Given the description of an element on the screen output the (x, y) to click on. 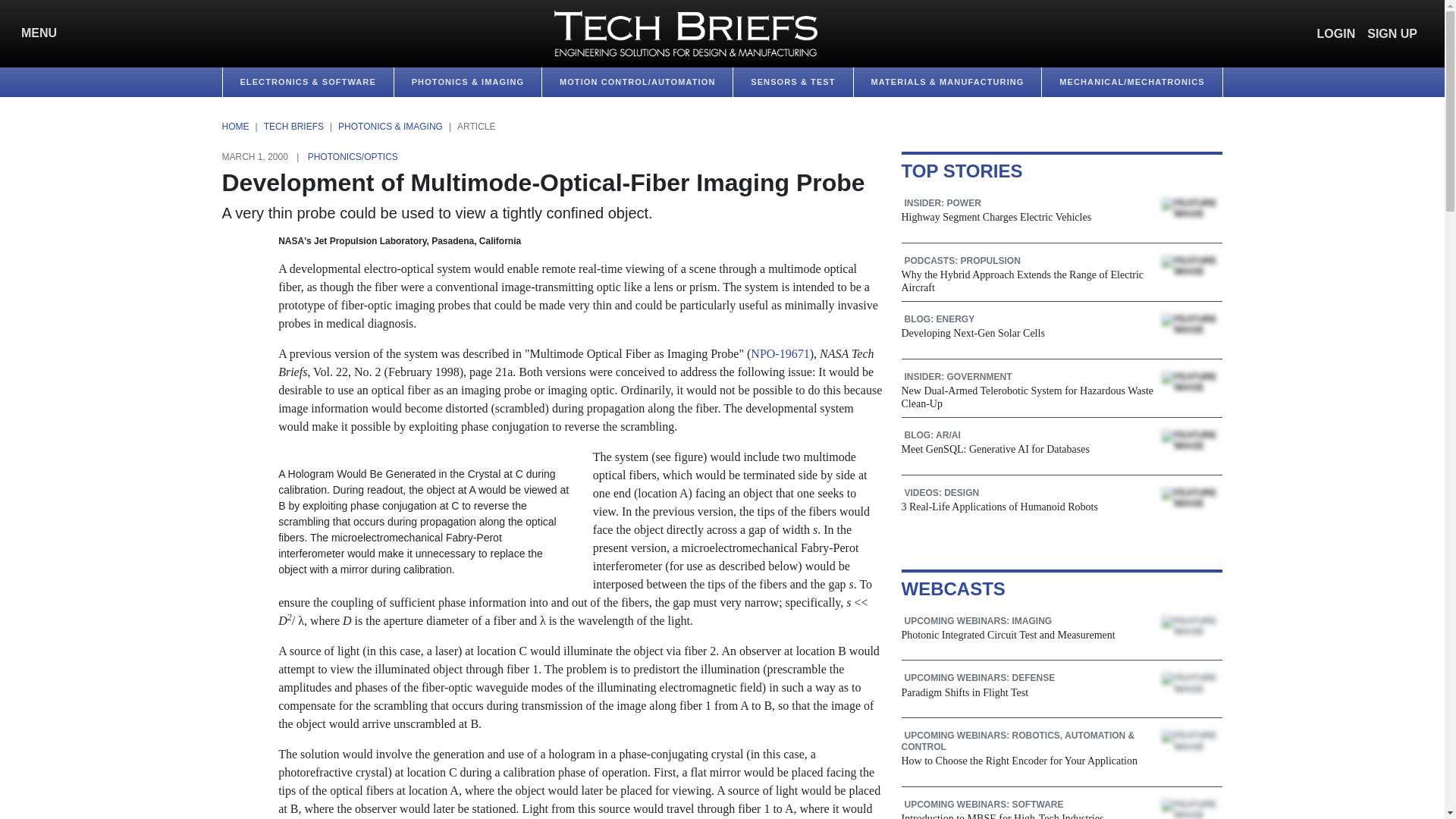
LOGIN (1336, 32)
MENU (35, 33)
SIGN UP (1392, 32)
